Given the description of an element on the screen output the (x, y) to click on. 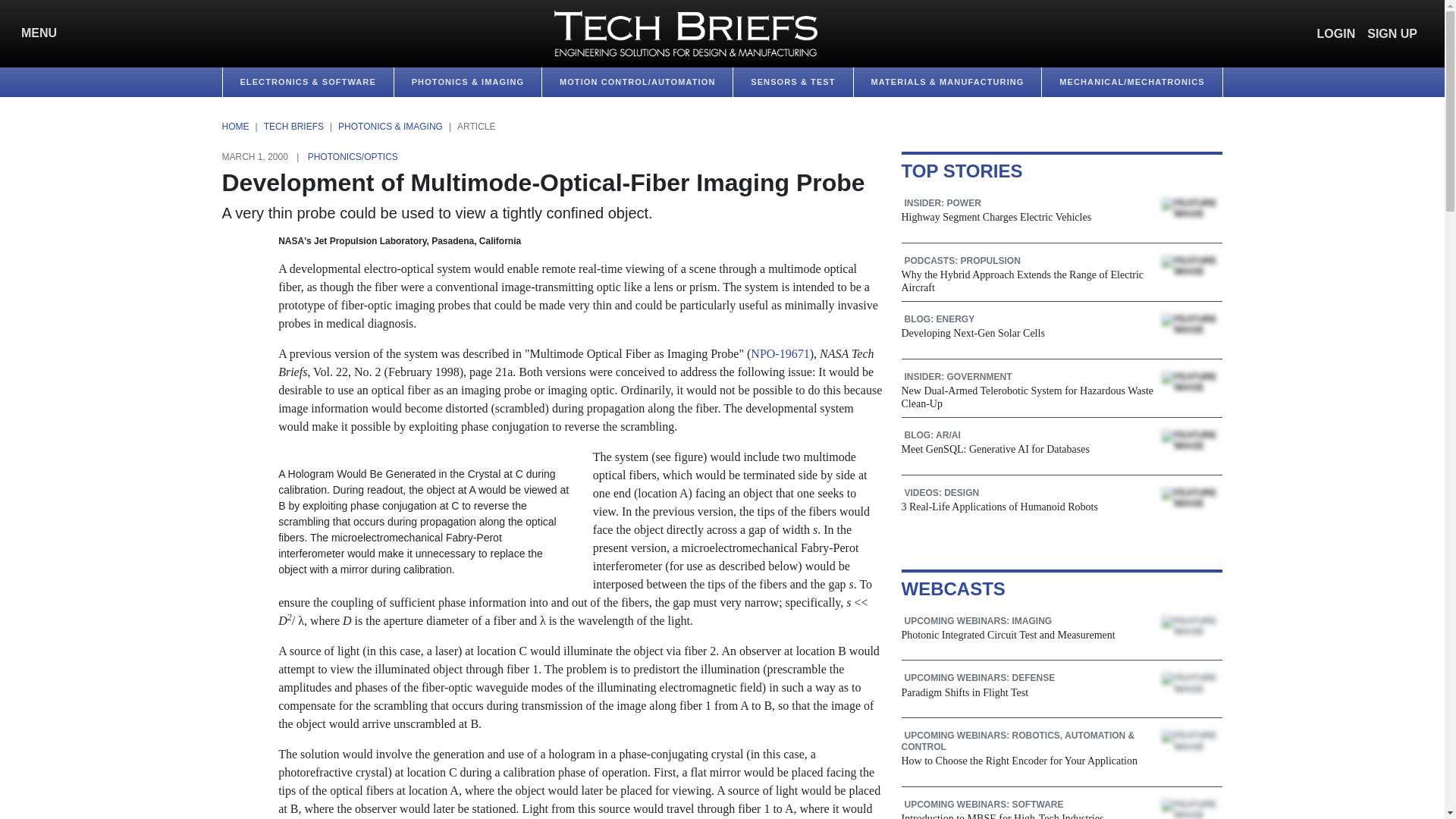
LOGIN (1336, 32)
MENU (35, 33)
SIGN UP (1392, 32)
